Given the description of an element on the screen output the (x, y) to click on. 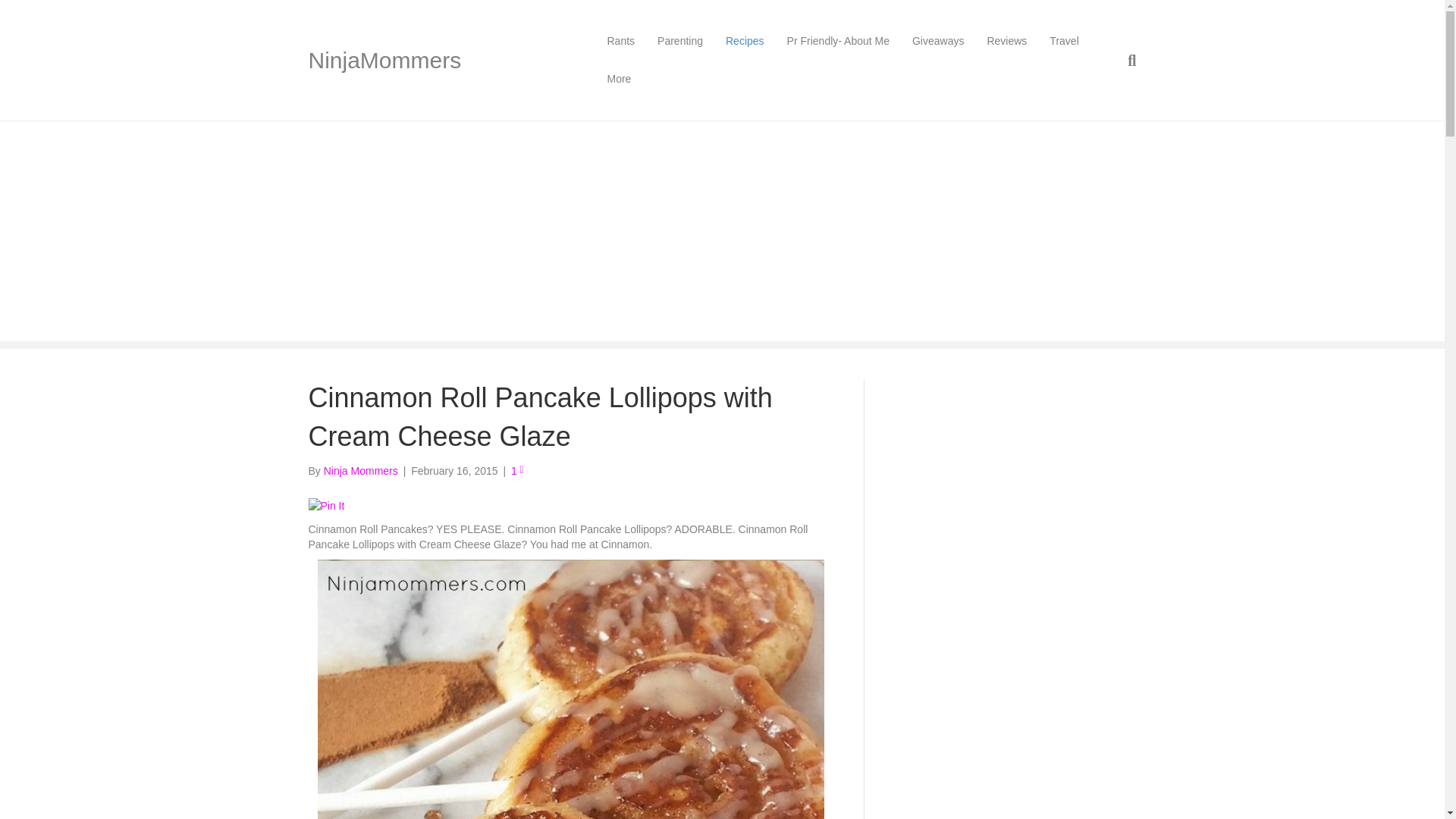
More (618, 79)
Rants (620, 41)
Giveaways (938, 41)
Pin It (325, 505)
Pr Friendly- About Me (838, 41)
Reviews (1006, 41)
Parenting (680, 41)
NinjaMommers (439, 60)
Recipes (745, 41)
Travel (1063, 41)
